Given the description of an element on the screen output the (x, y) to click on. 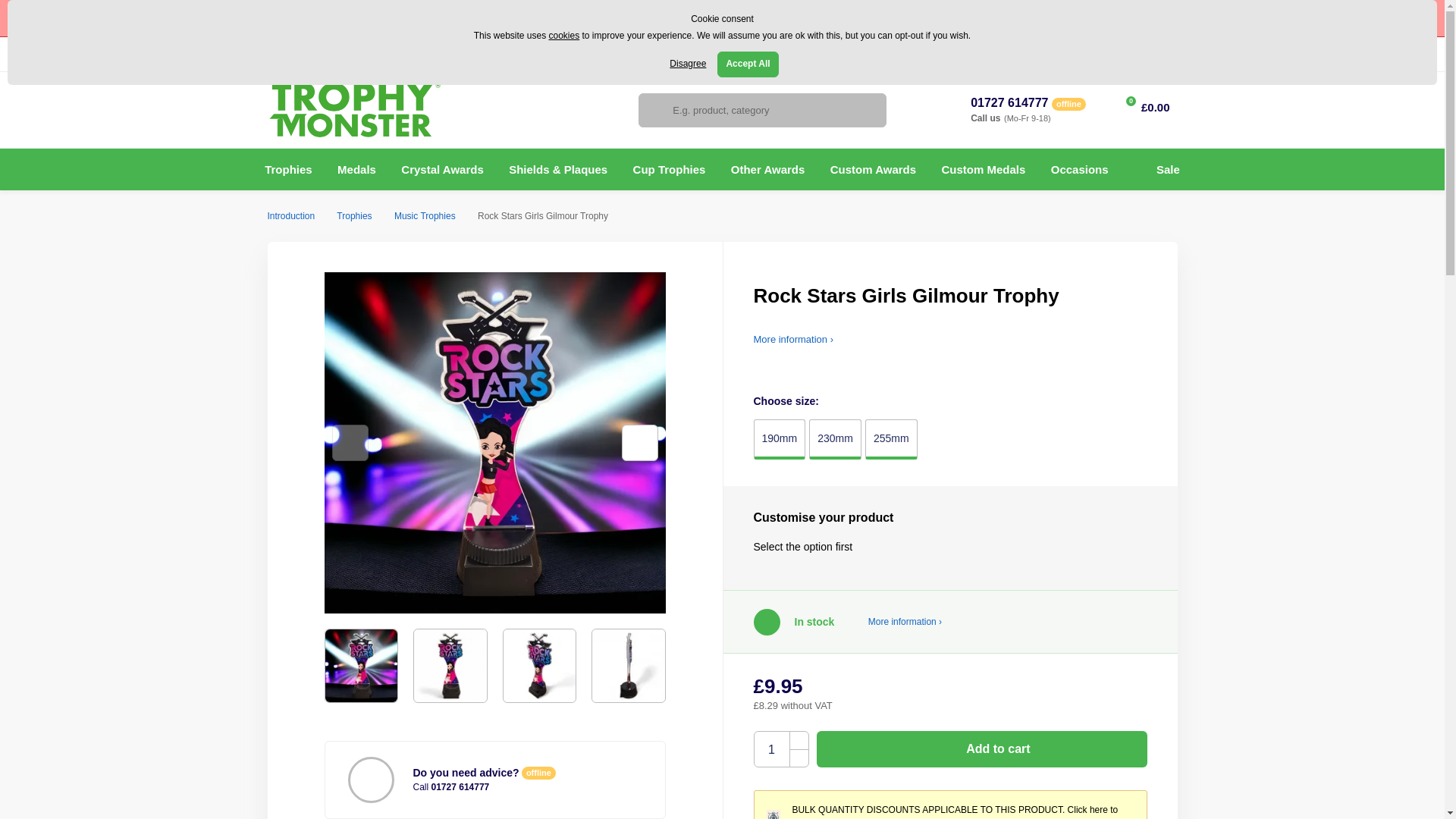
Blog (440, 54)
here (772, 18)
GBP (780, 53)
1 (771, 749)
Close (1429, 17)
Log in (1149, 54)
Contact Us (392, 54)
Transport options (895, 622)
Trophies (287, 169)
Music Trophies (424, 215)
